Given the description of an element on the screen output the (x, y) to click on. 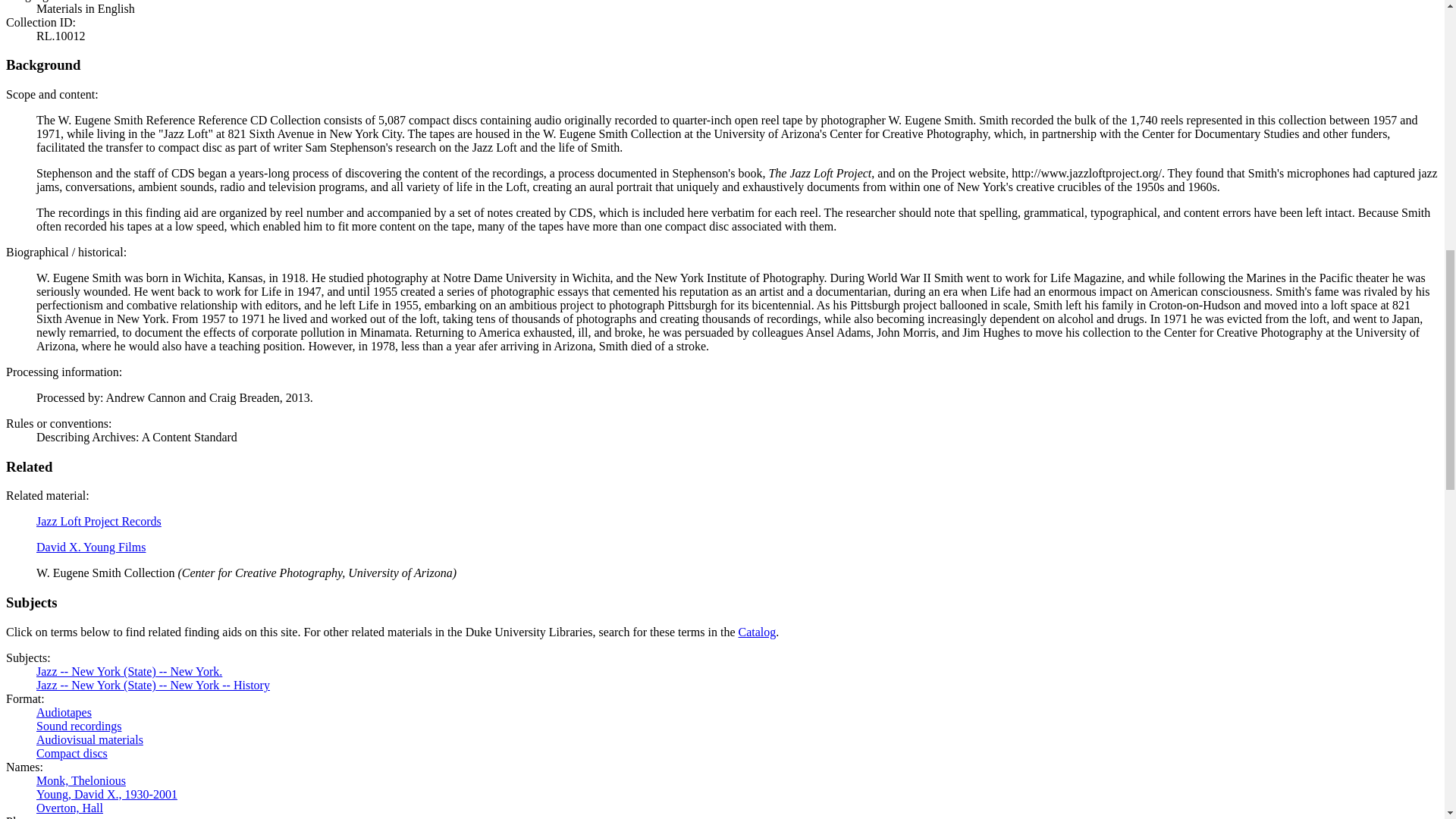
Jazz Loft Project Records (98, 521)
Catalog (757, 631)
Audiotapes (63, 712)
Audiovisual materials (89, 739)
Compact discs (71, 753)
Sound recordings (78, 725)
David X. Young Films (90, 546)
